Given the description of an element on the screen output the (x, y) to click on. 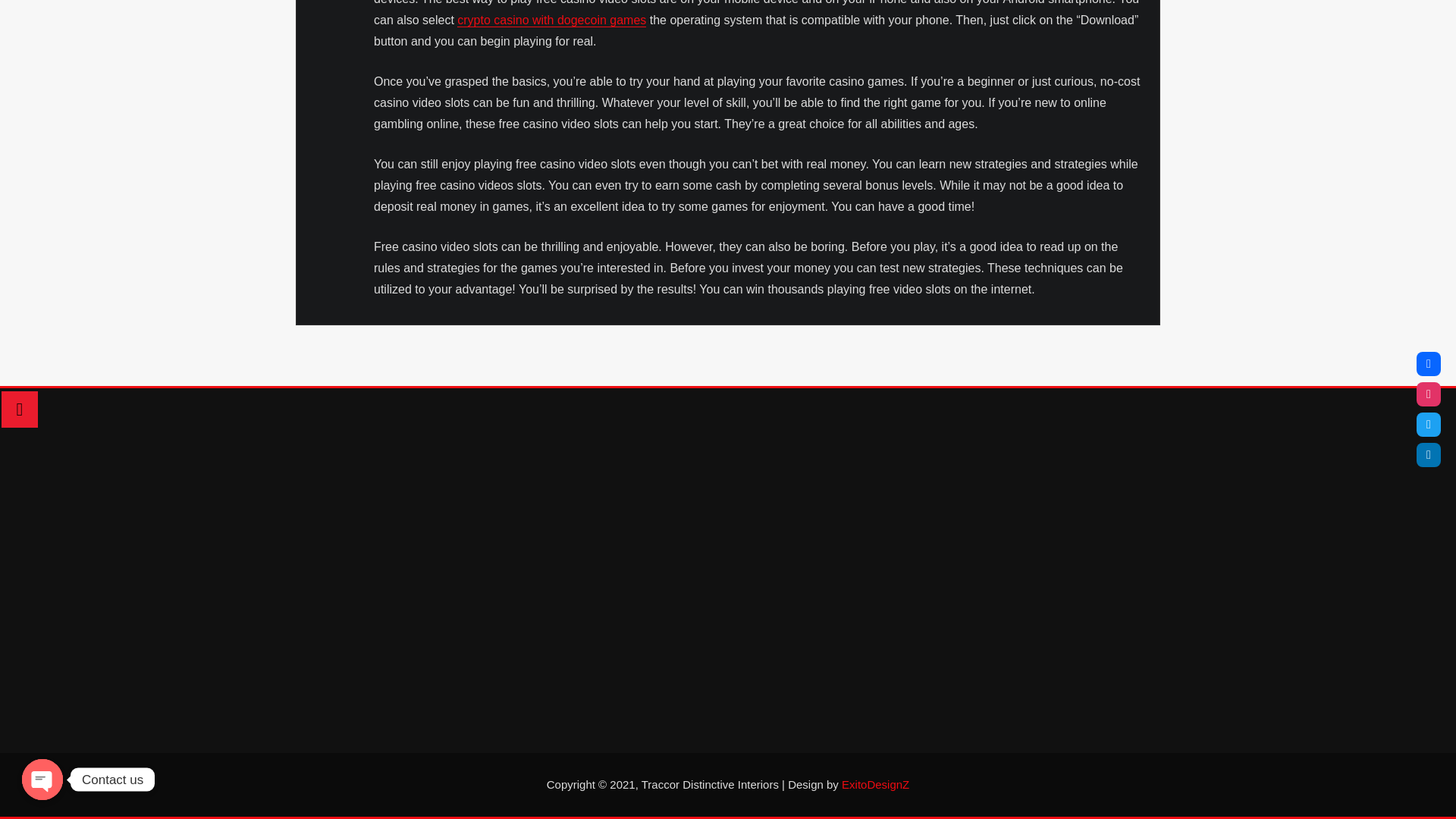
crypto casino with dogecoin games (551, 19)
